Given the description of an element on the screen output the (x, y) to click on. 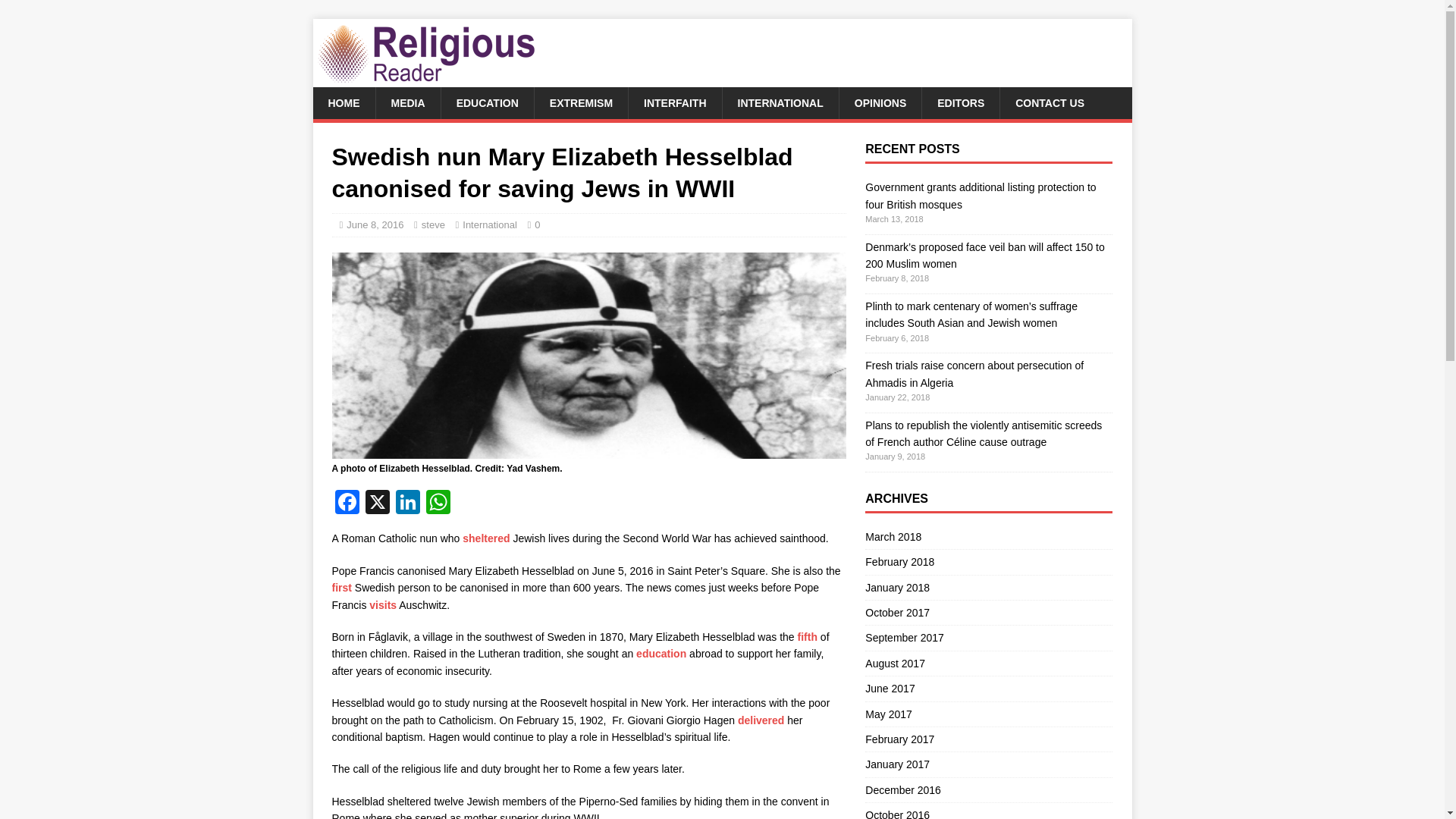
WhatsApp (437, 503)
LinkedIn (408, 503)
WhatsApp (437, 503)
International (489, 224)
delivered (761, 720)
sheltered (486, 538)
INTERFAITH (673, 102)
LinkedIn (408, 503)
Religious Reader (426, 78)
steve (433, 224)
June 8, 2016 (374, 224)
X (377, 503)
OPINIONS (879, 102)
visits (382, 604)
0 (537, 224)
